Given the description of an element on the screen output the (x, y) to click on. 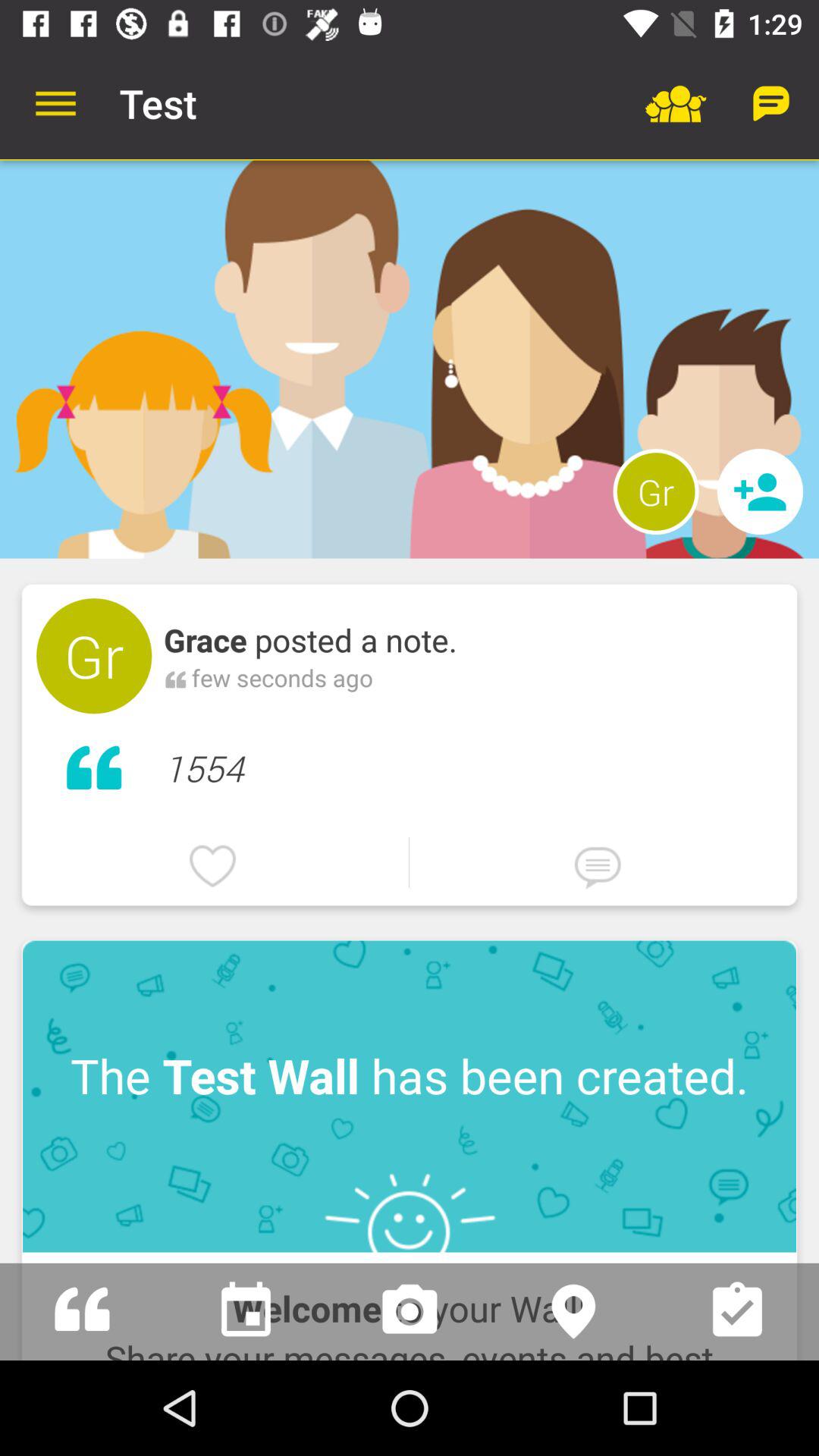
click item above few seconds ago item (310, 639)
